Given the description of an element on the screen output the (x, y) to click on. 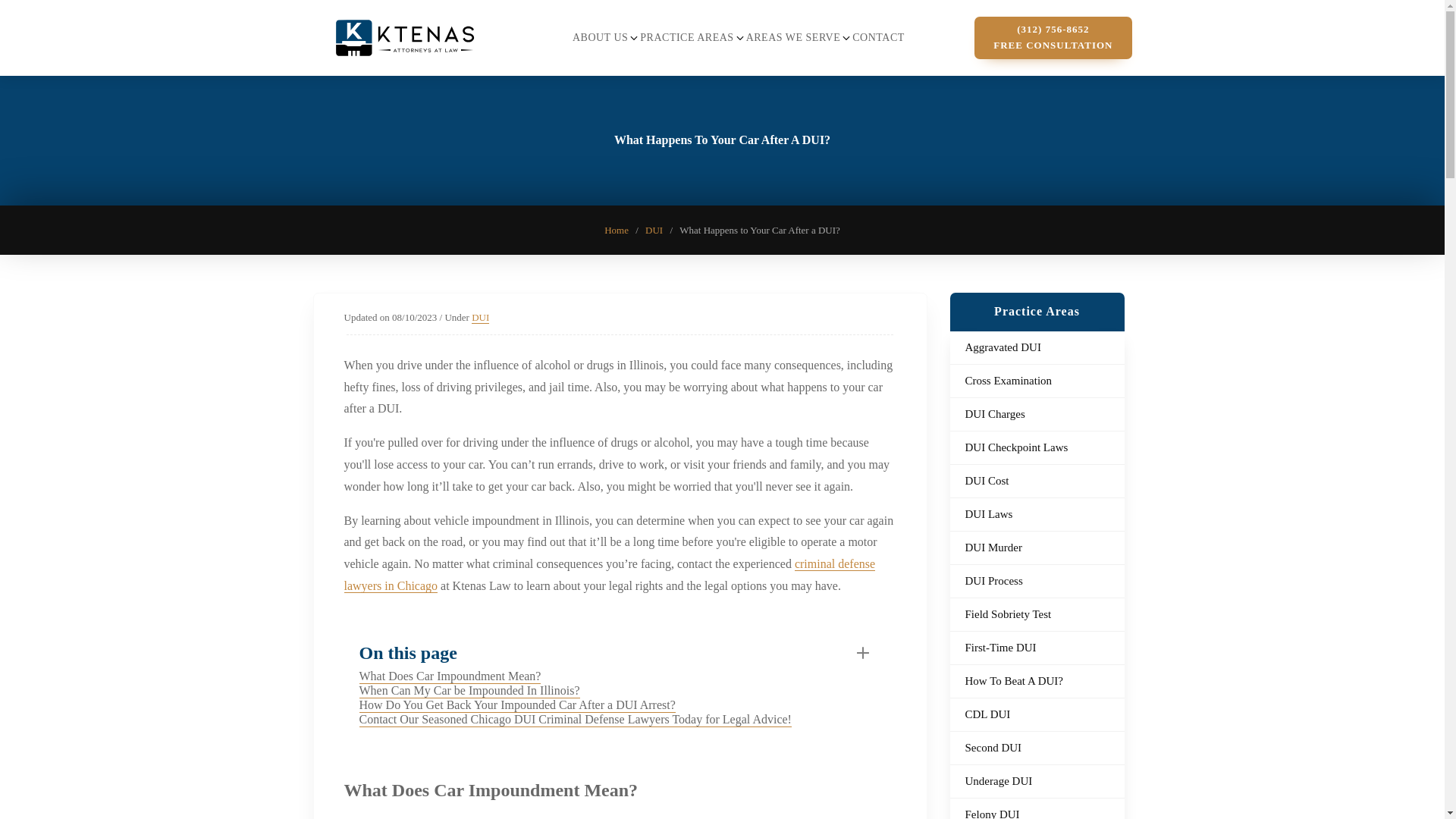
DUI (653, 229)
CONTACT (877, 36)
criminal defense lawyers in Chicago (609, 574)
What Does Car Impoundment Mean? (450, 676)
How Do You Get Back Your Impounded Car After a DUI Arrest? (517, 705)
When Can My Car be Impounded In Illinois? (469, 690)
Home (616, 229)
What Does Car Impoundment Mean? (450, 676)
DUI (480, 317)
